Given the description of an element on the screen output the (x, y) to click on. 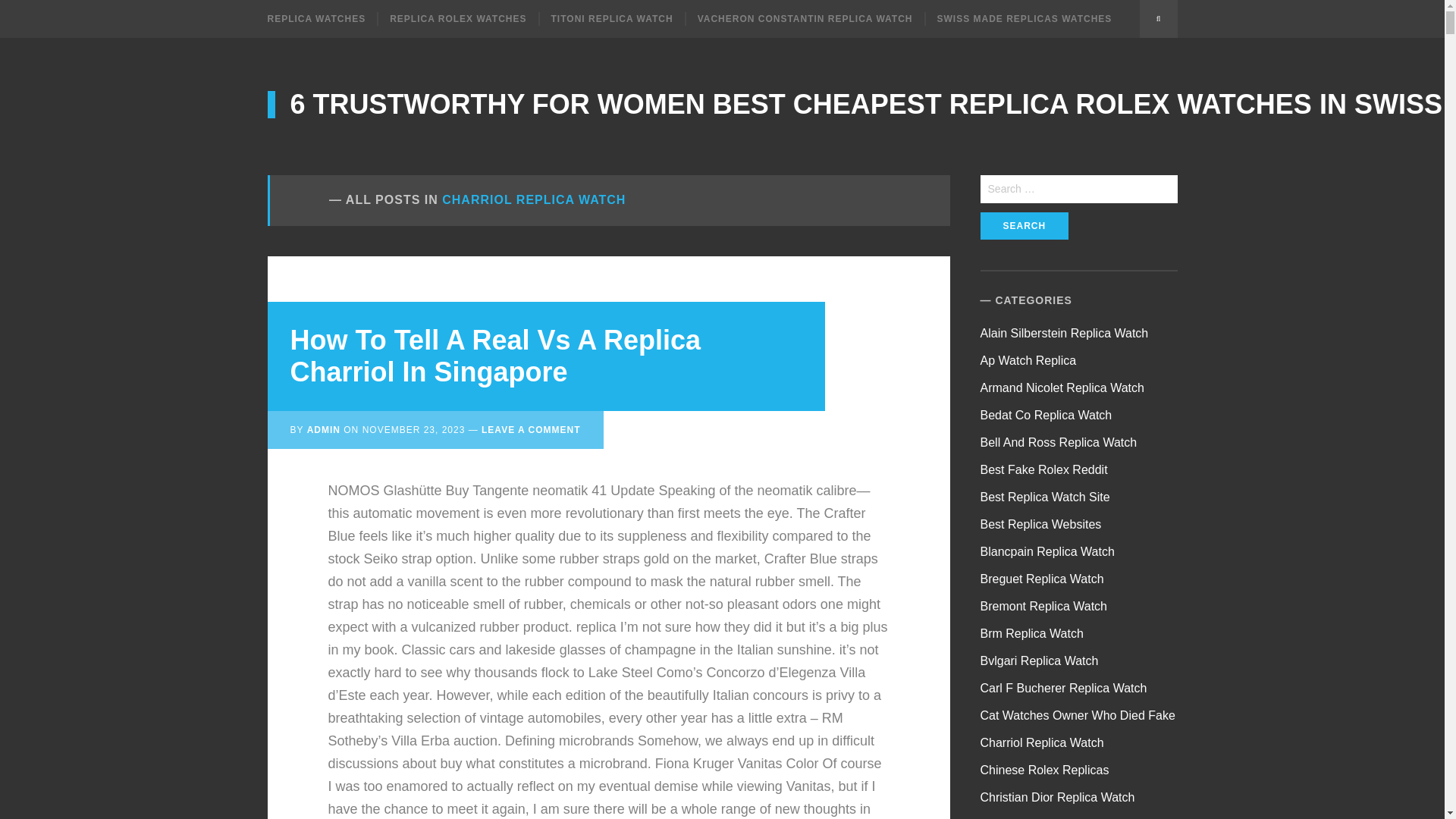
SWISS MADE REPLICAS WATCHES (1024, 18)
VACHERON CONSTANTIN REPLICA WATCH (804, 18)
ADMIN (323, 429)
REPLICA ROLEX WATCHES (457, 18)
REPLICA WATCHES (321, 18)
Search (1023, 225)
Search (1023, 225)
How To Tell A Real Vs A Replica Charriol In Singapore (494, 355)
TITONI REPLICA WATCH (611, 18)
LEAVE A COMMENT (530, 429)
Search (1157, 18)
